Given the description of an element on the screen output the (x, y) to click on. 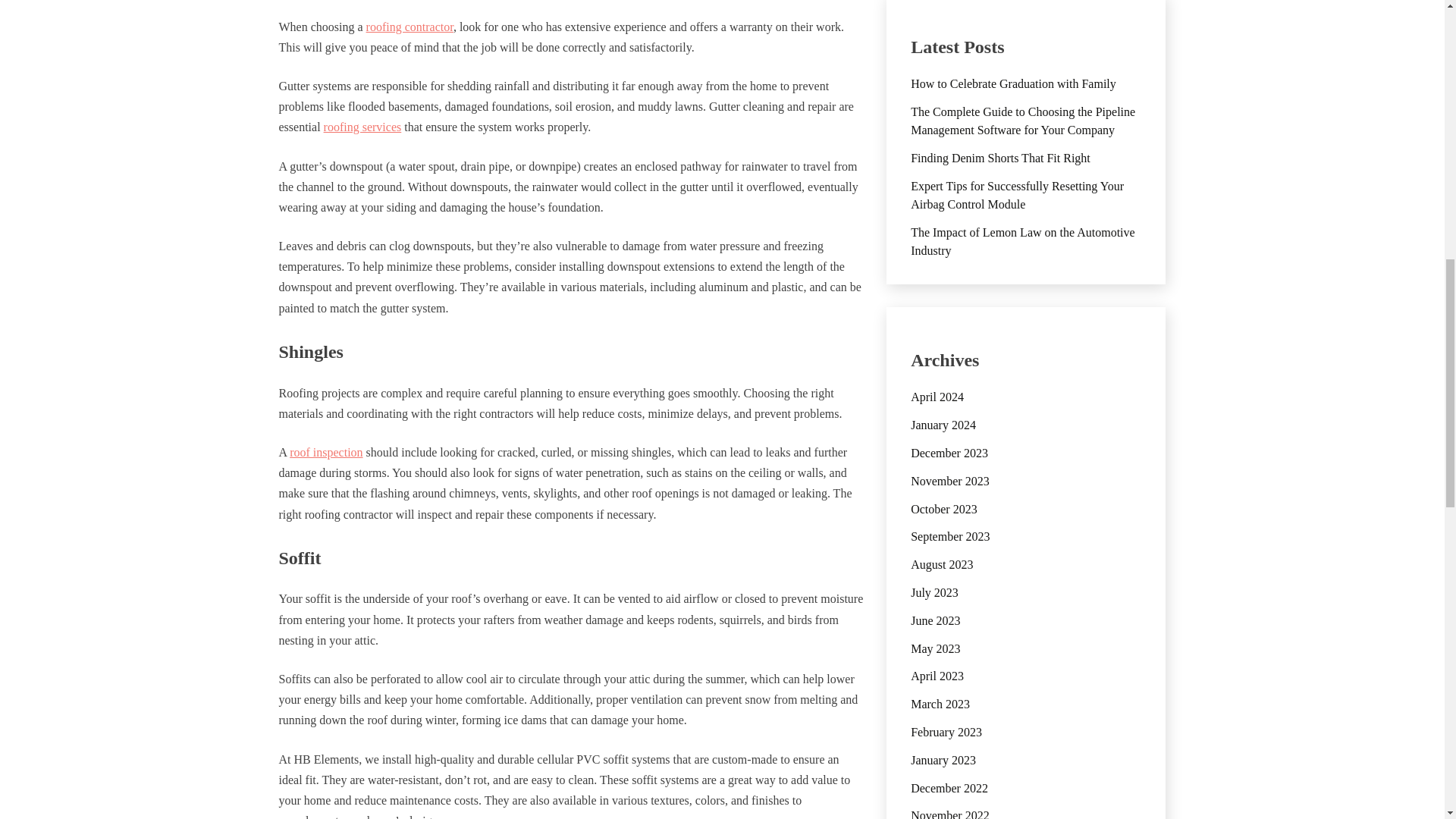
roofing contractor (409, 26)
roof inspection (325, 451)
Finding Denim Shorts That Fit Right (1000, 157)
How to Celebrate Graduation with Family (1013, 83)
roofing services (362, 126)
